Given the description of an element on the screen output the (x, y) to click on. 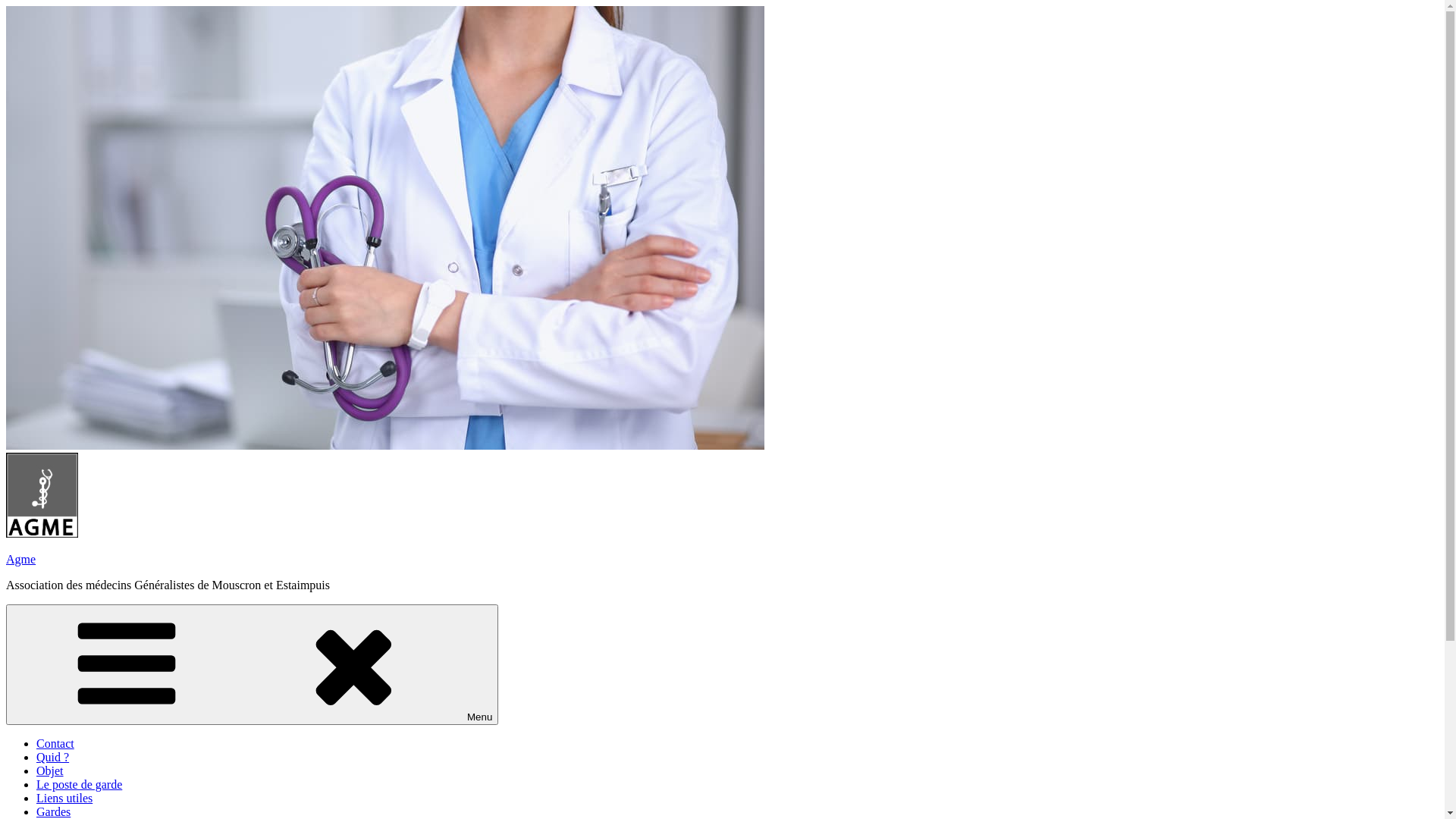
Liens utiles Element type: text (64, 797)
Le poste de garde Element type: text (79, 784)
Aller au contenu principal Element type: text (5, 5)
Objet Element type: text (49, 770)
Contact Element type: text (55, 743)
Agme Element type: text (20, 558)
Gardes Element type: text (53, 811)
Menu Element type: text (252, 664)
Quid ? Element type: text (52, 756)
